Given the description of an element on the screen output the (x, y) to click on. 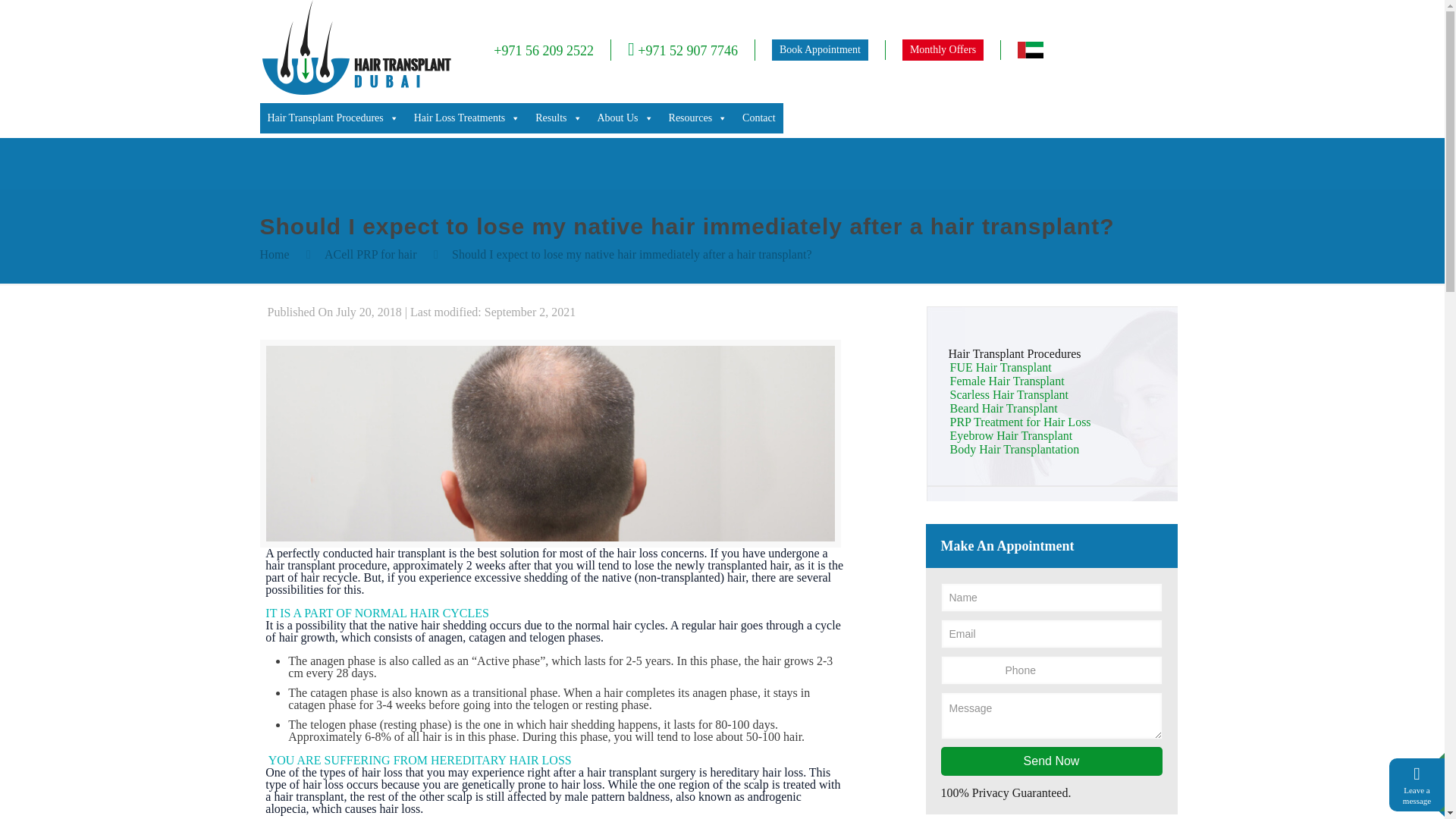
Leave a message (1417, 794)
Hair Transplant Dubai  (355, 91)
Send Now (1050, 760)
Hair Loss Treatments (467, 118)
Monthly Offers (943, 49)
Book Appointment (819, 49)
Hair Transplant Procedures (332, 118)
